Given the description of an element on the screen output the (x, y) to click on. 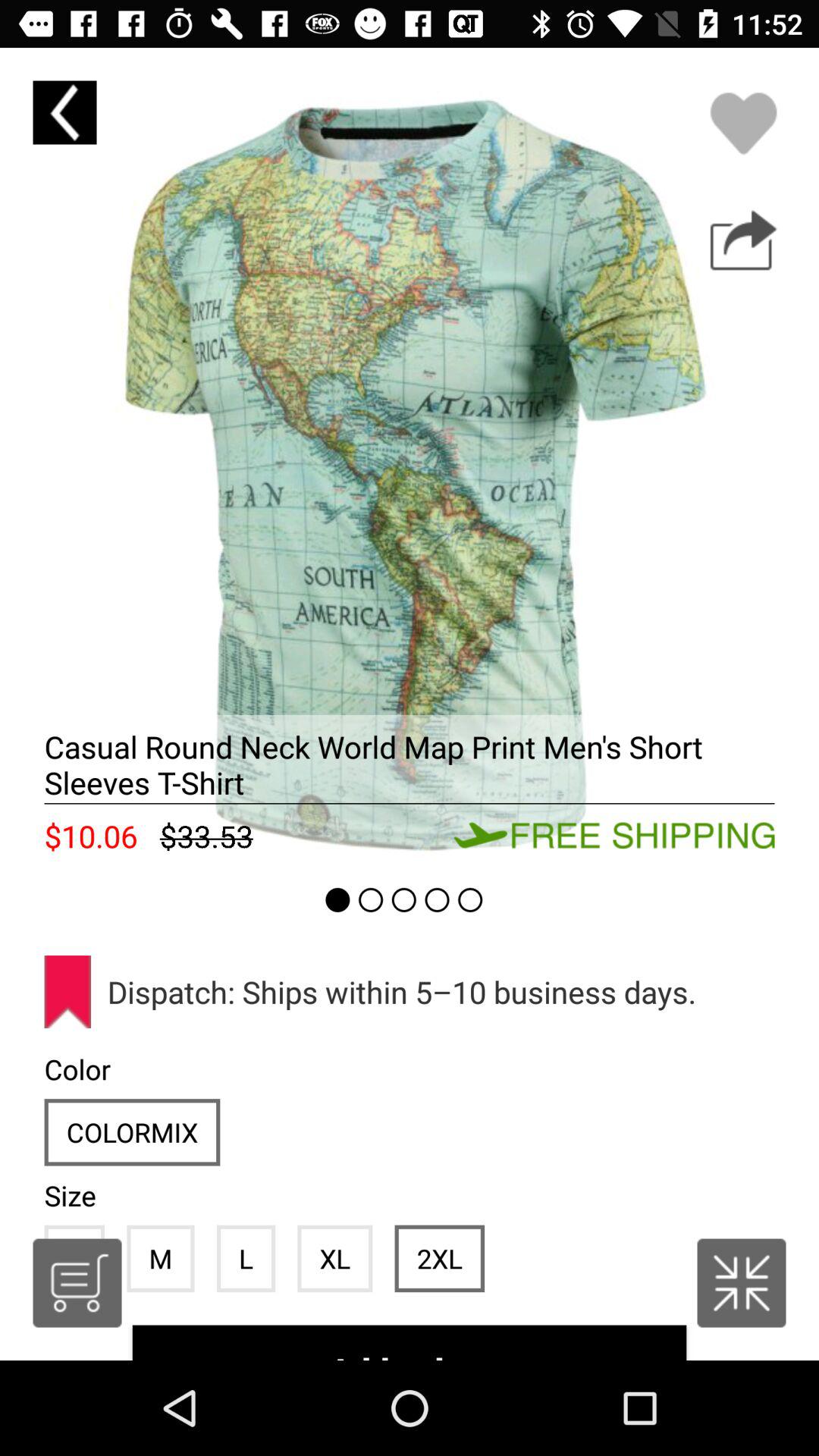
turn on icon to the right of l item (334, 1258)
